Given the description of an element on the screen output the (x, y) to click on. 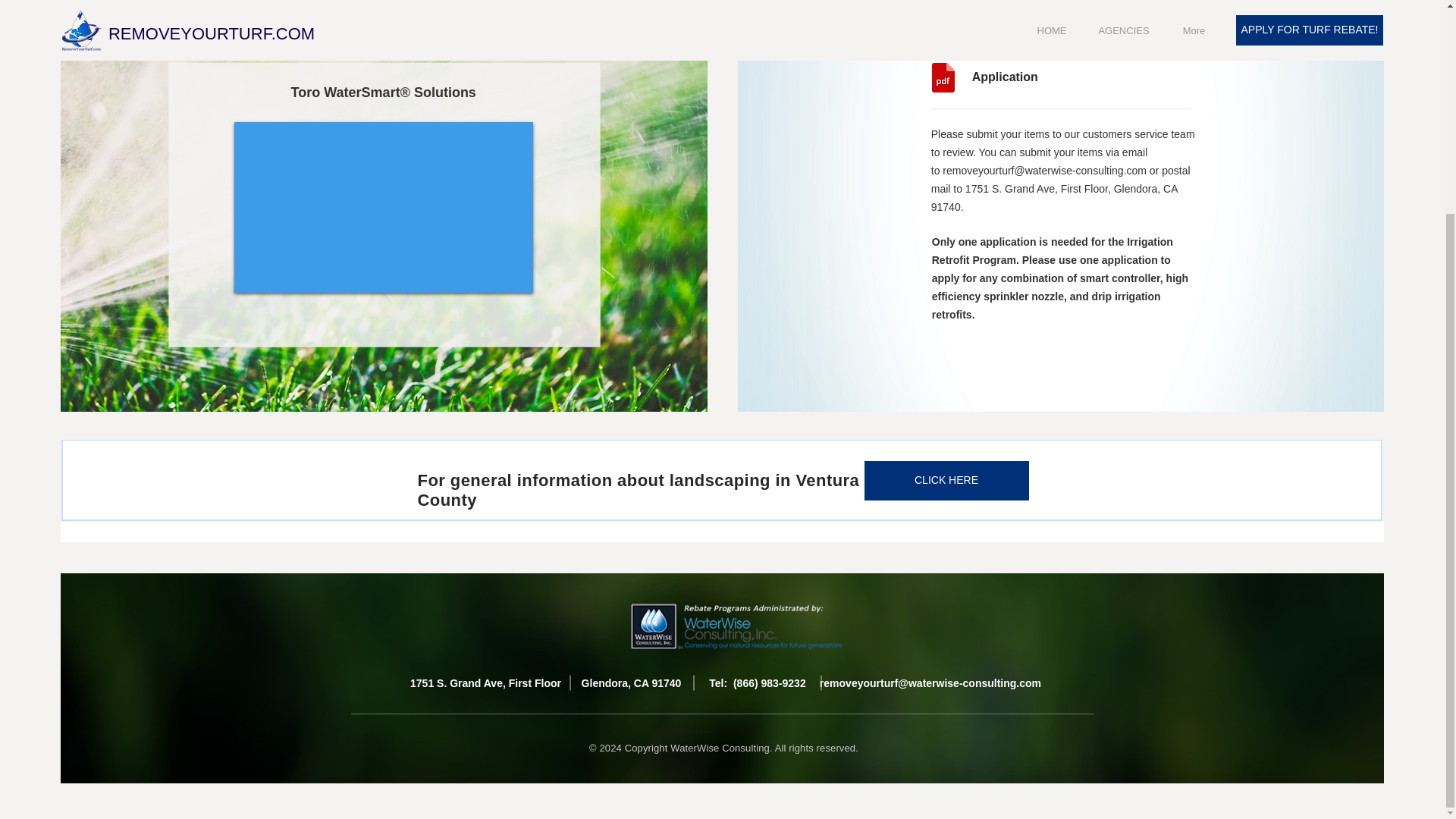
CLICK HERE (946, 480)
Application (1036, 77)
External YouTube (383, 207)
